Given the description of an element on the screen output the (x, y) to click on. 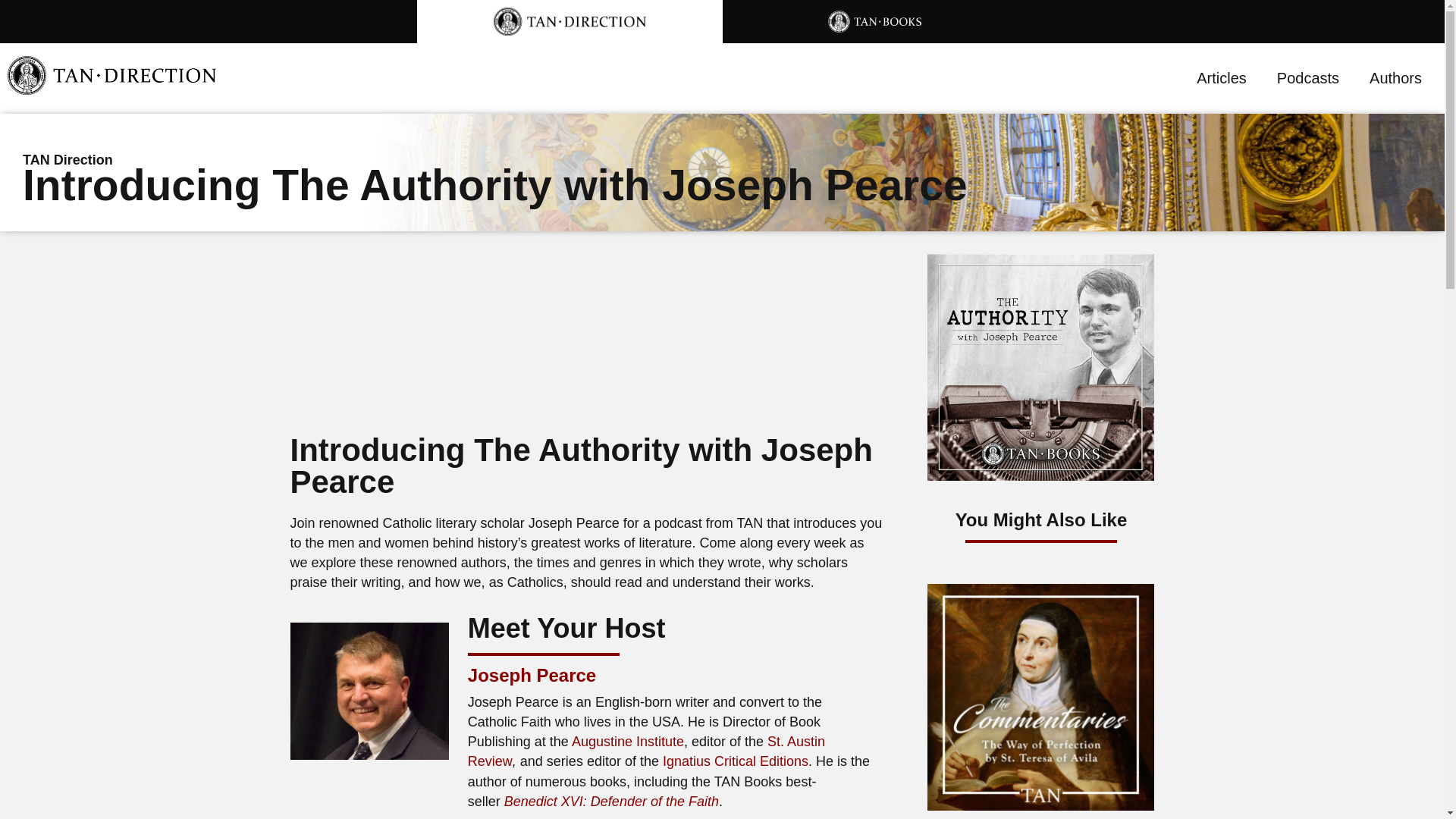
Articles (1221, 77)
Joseph Pearce (531, 675)
Authors (1395, 77)
Benedict XVI: Defender of the Faith (611, 801)
Ignatius Critical Editions (735, 761)
Podcasts (1308, 77)
Augustine Institute (628, 741)
St. Austin Review (646, 751)
